Given the description of an element on the screen output the (x, y) to click on. 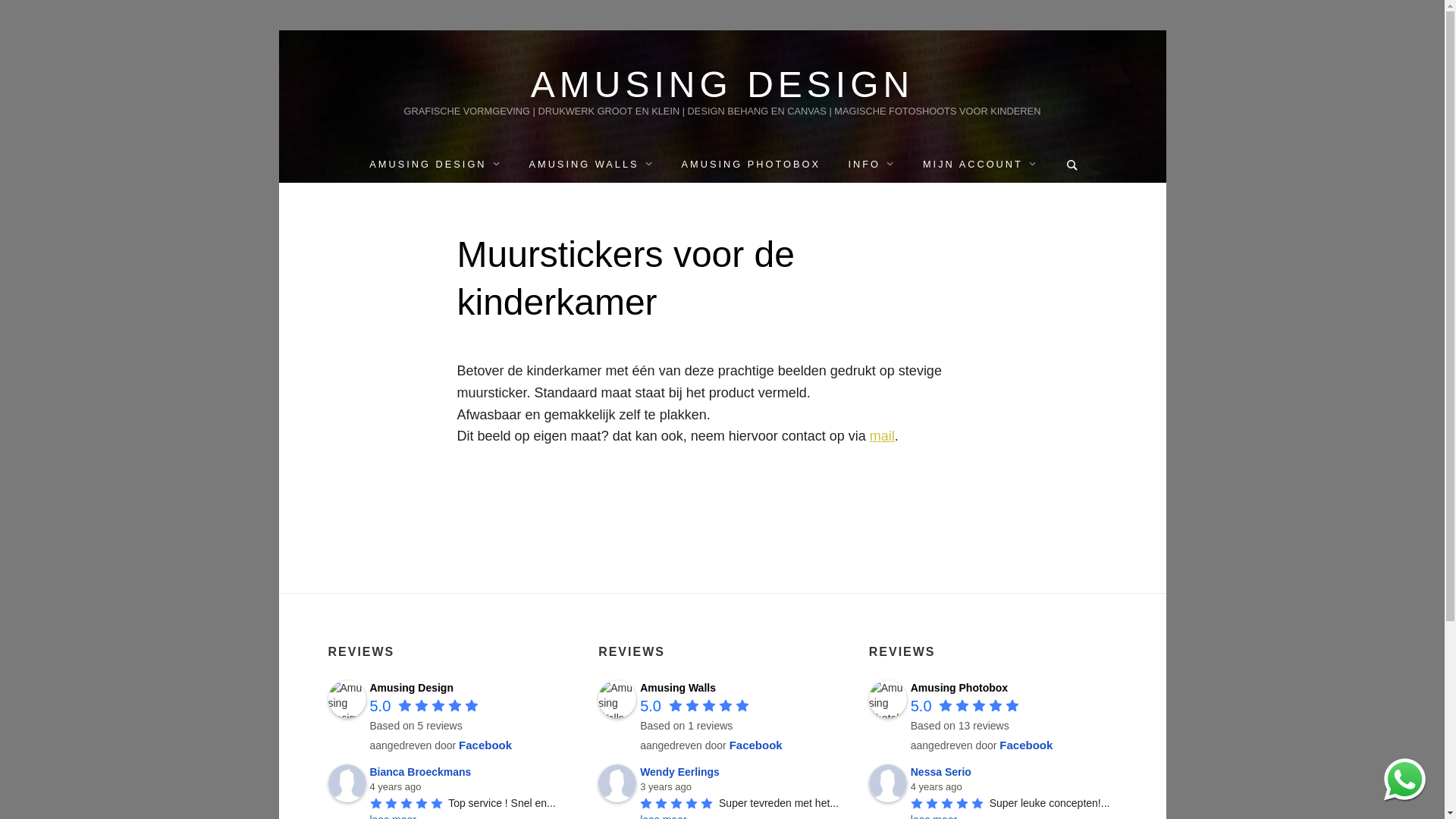
Nessa Serio Element type: hover (887, 783)
INFO Element type: text (871, 163)
Wendy Eerlings Element type: text (682, 771)
AMUSING DESIGN Element type: text (434, 163)
Amusing Design Element type: text (411, 687)
Wendy Eerlings Element type: hover (617, 783)
Bianca Broeckmans Element type: text (423, 771)
Amusing Walls Element type: text (677, 687)
AMUSING PHOTOBOX Element type: text (750, 163)
Amusing Photobox Element type: hover (887, 699)
AMUSING DESIGN Element type: text (722, 84)
mail Element type: text (881, 435)
Nessa Serio Element type: text (942, 771)
AMUSING WALLS Element type: text (590, 163)
Heb je een vraag? Element type: hover (1404, 778)
Bianca Broeckmans Element type: hover (346, 783)
Amusing Walls Element type: hover (617, 699)
Amusing Design Element type: hover (346, 699)
Doorgaan naar inhoud Element type: text (277, 29)
MIJN ACCOUNT Element type: text (979, 163)
Amusing Photobox Element type: text (958, 687)
